Given the description of an element on the screen output the (x, y) to click on. 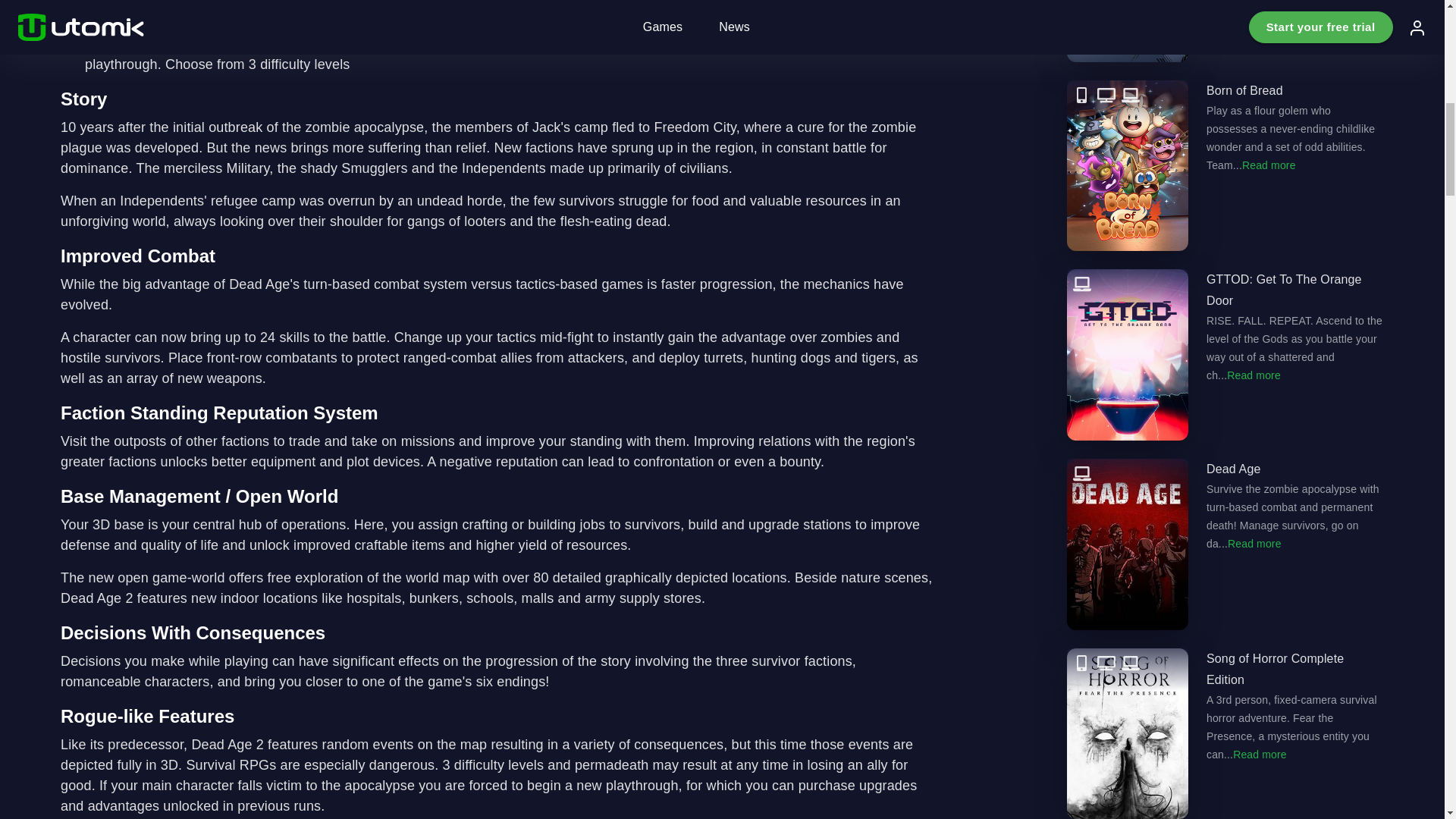
Read more (1254, 375)
Read more (1254, 543)
Born of Bread (1225, 165)
Dead Age (1225, 543)
GTTOD: Get To The Orange Door (1225, 354)
Read more (1260, 753)
Song of Horror Complete Edition (1225, 733)
Asteroids: Recharged (1225, 31)
Read more (1268, 164)
